Given the description of an element on the screen output the (x, y) to click on. 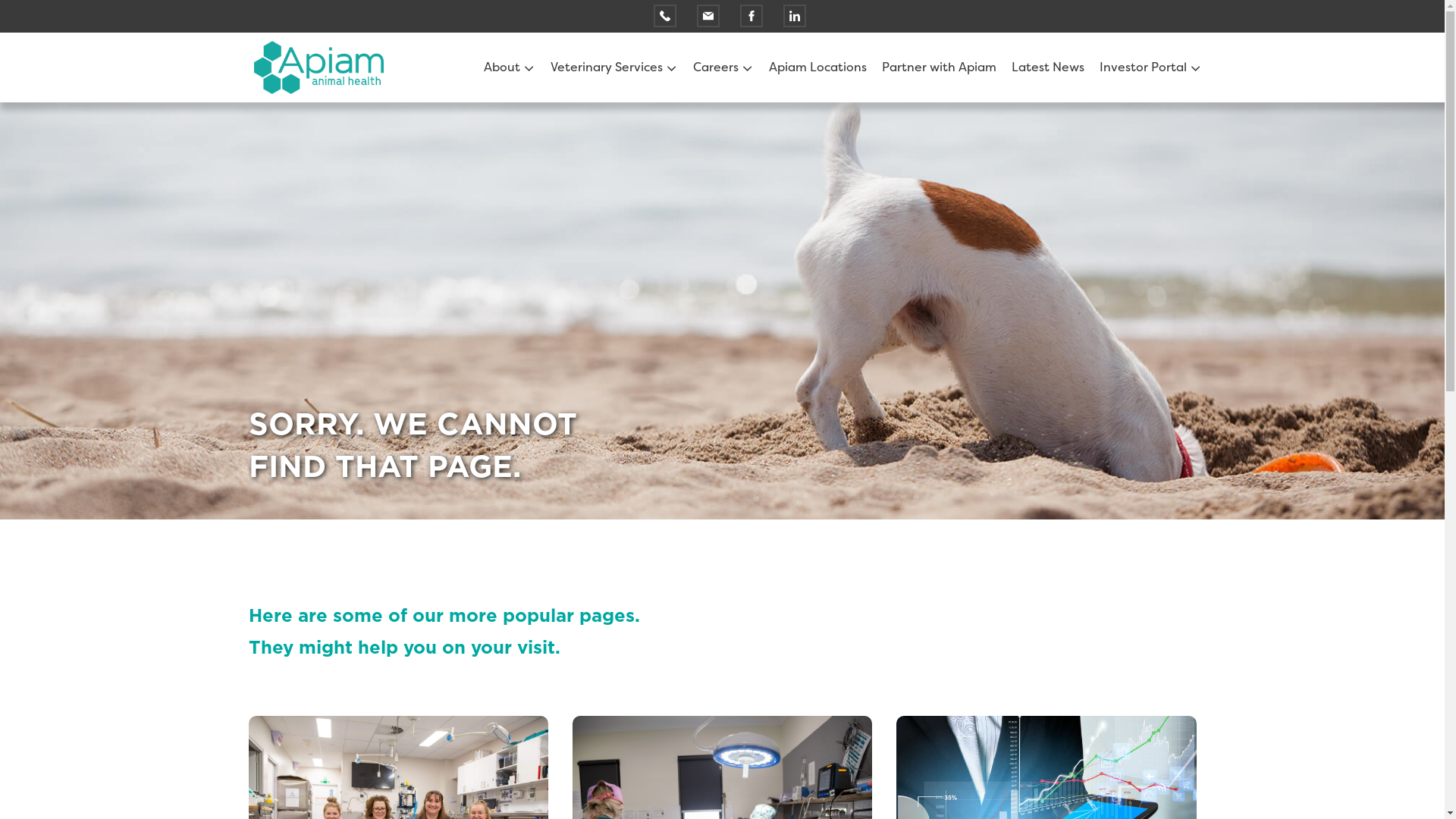
Apiam Locations Element type: text (817, 67)
Partner with Apiam Element type: text (938, 67)
Latest News Element type: text (1047, 67)
Investor Portal Element type: text (1144, 67)
About Element type: text (503, 67)
Veterinary Services Element type: text (607, 67)
Careers Element type: text (717, 67)
